Given the description of an element on the screen output the (x, y) to click on. 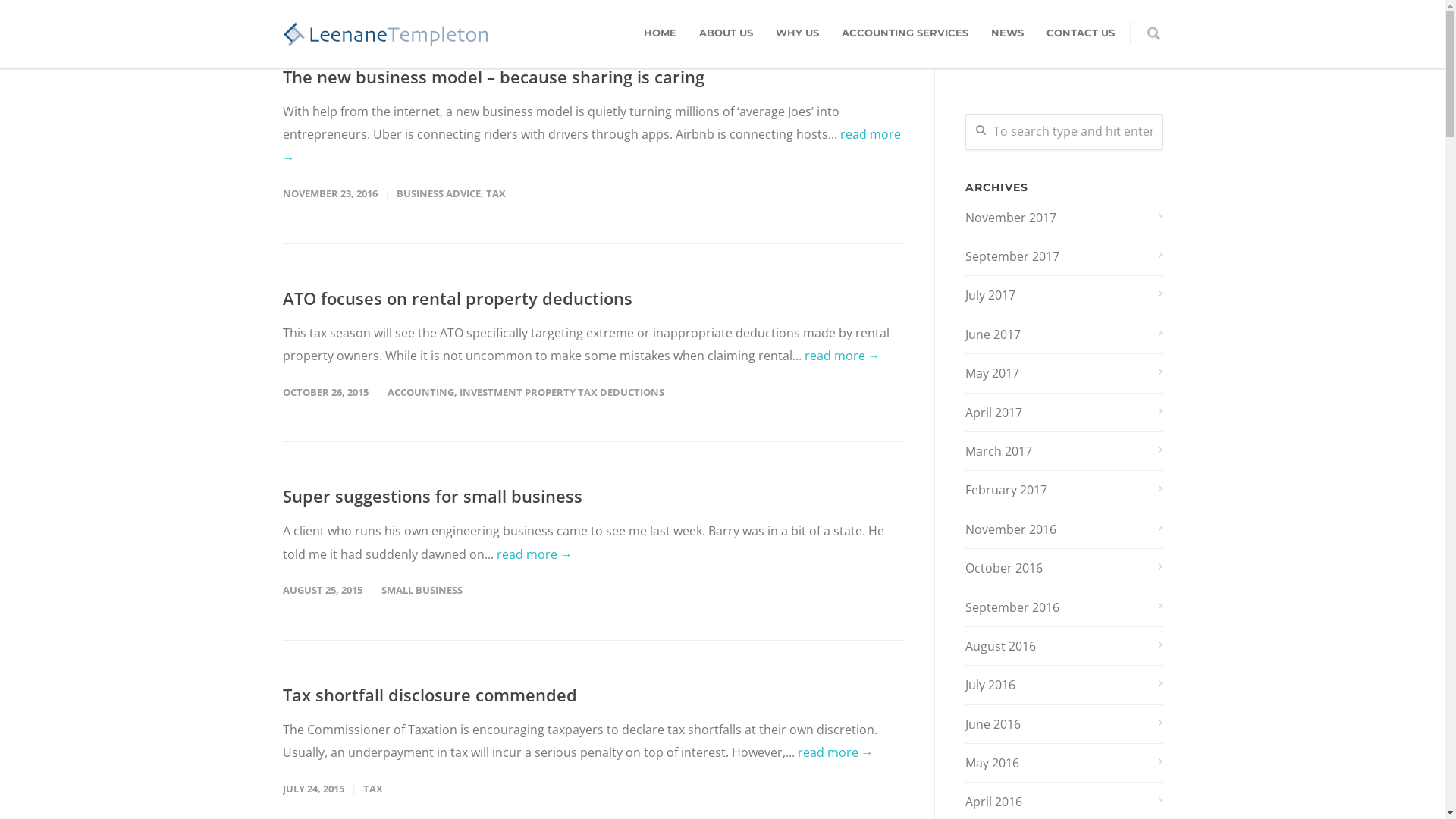
HOME Element type: text (659, 32)
March 2017 Element type: text (1062, 450)
TAX Element type: text (372, 788)
ABOUT US Element type: text (725, 32)
Search Element type: text (40, 16)
July 2017 Element type: text (1062, 294)
BUSINESS ADVICE Element type: text (437, 193)
NEWS Element type: text (1007, 32)
June 2017 Element type: text (1062, 334)
ATO focuses on rental property deductions Element type: text (456, 297)
July 2016 Element type: text (1062, 684)
April 2016 Element type: text (1062, 801)
October 2016 Element type: text (1062, 567)
November 2016 Element type: text (1062, 528)
SMALL BUSINESS Element type: text (420, 589)
November 2017 Element type: text (1062, 217)
WHY US Element type: text (797, 32)
September 2017 Element type: text (1062, 255)
ACCOUNTING Element type: text (419, 391)
February 2017 Element type: text (1062, 489)
CONTACT US Element type: text (1079, 32)
April 2017 Element type: text (1062, 412)
June 2016 Element type: text (1062, 723)
May 2016 Element type: text (1062, 762)
September 2016 Element type: text (1062, 607)
TAX Element type: text (495, 193)
August 2016 Element type: text (1062, 645)
ACCOUNTING SERVICES Element type: text (904, 32)
Super suggestions for small business Element type: text (431, 495)
INVESTMENT PROPERTY TAX DEDUCTIONS Element type: text (561, 391)
May 2017 Element type: text (1062, 372)
Tax shortfall disclosure commended Element type: text (429, 694)
